Given the description of an element on the screen output the (x, y) to click on. 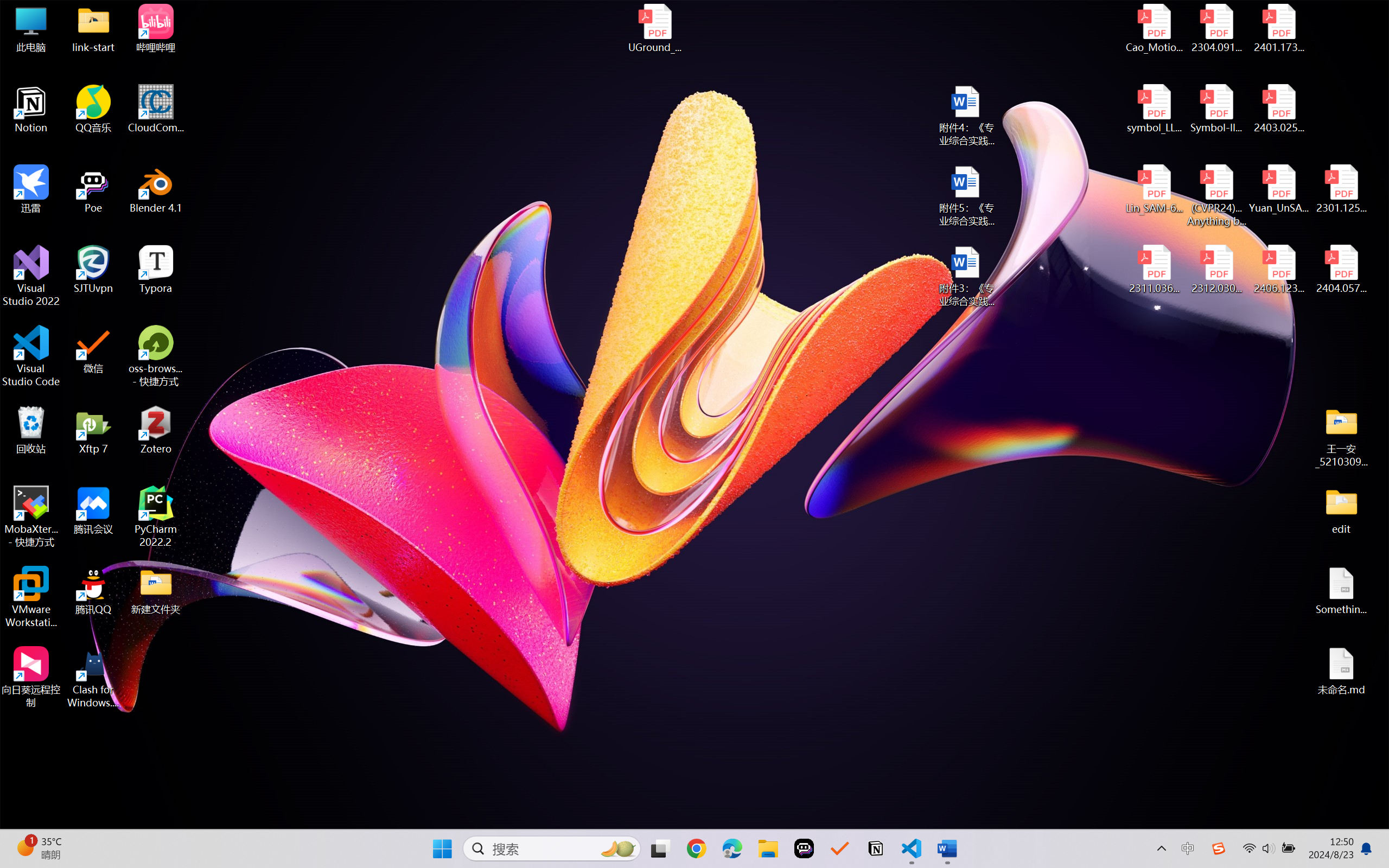
symbol_LLM.pdf (1154, 109)
Microsoft Edge (731, 848)
CloudCompare (156, 109)
Xftp 7 (93, 430)
2301.12597v3.pdf (1340, 189)
